Given the description of an element on the screen output the (x, y) to click on. 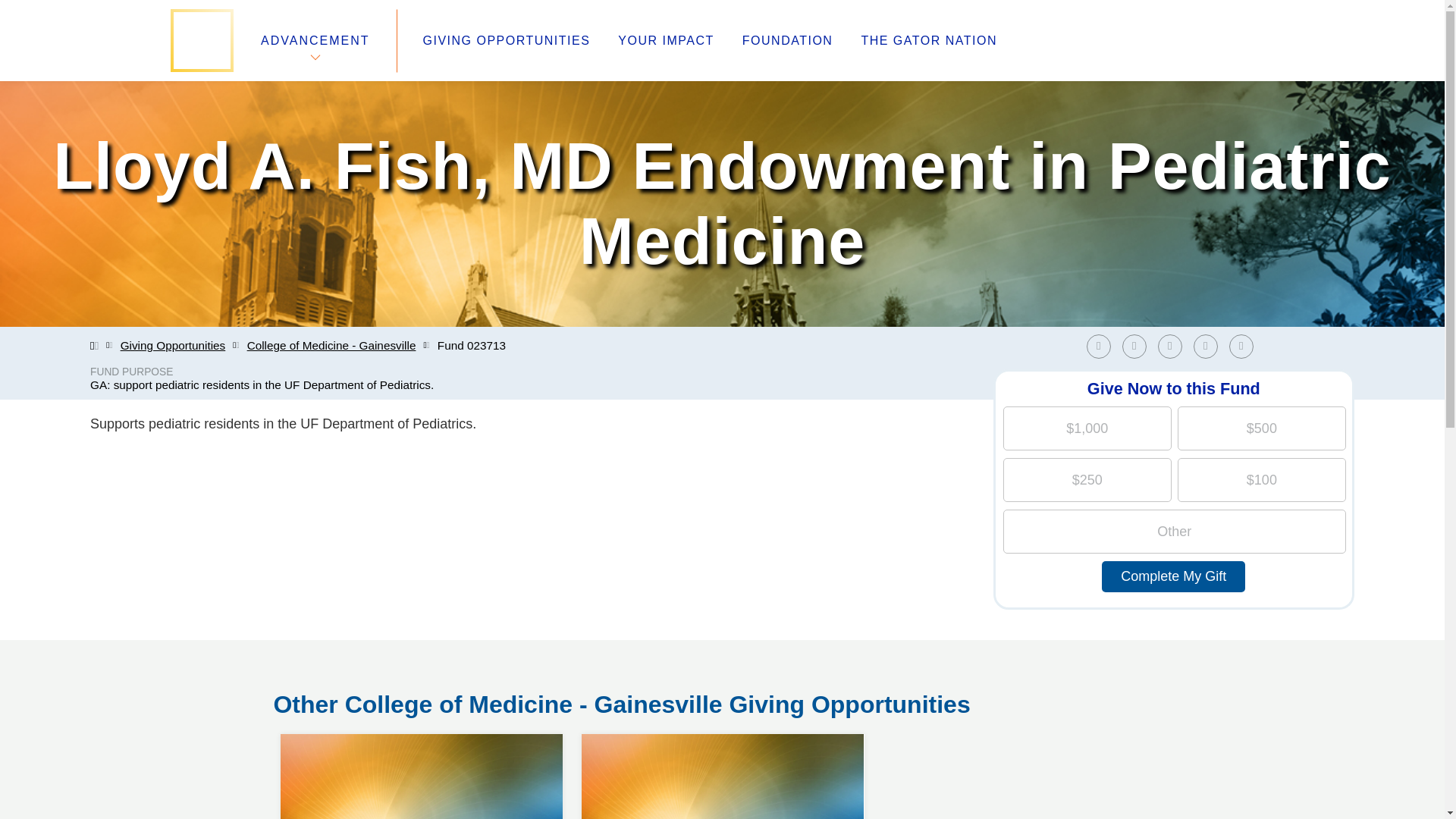
GIVING OPPORTUNITIES (507, 40)
THE GATOR NATION (928, 40)
Share on LinkedIn (1169, 346)
College of Medicine - Gainesville (331, 345)
YOUR IMPACT (665, 40)
Share on Reddit (1205, 346)
Giving Opportunities (421, 734)
Share by Email (172, 345)
Share on Reddit (1240, 346)
Share by Email (1209, 345)
Share on Twitter (1244, 345)
Share on LinkedIn (1138, 345)
ADVANCEMENT (1173, 345)
Share on Twitter (314, 40)
